Given the description of an element on the screen output the (x, y) to click on. 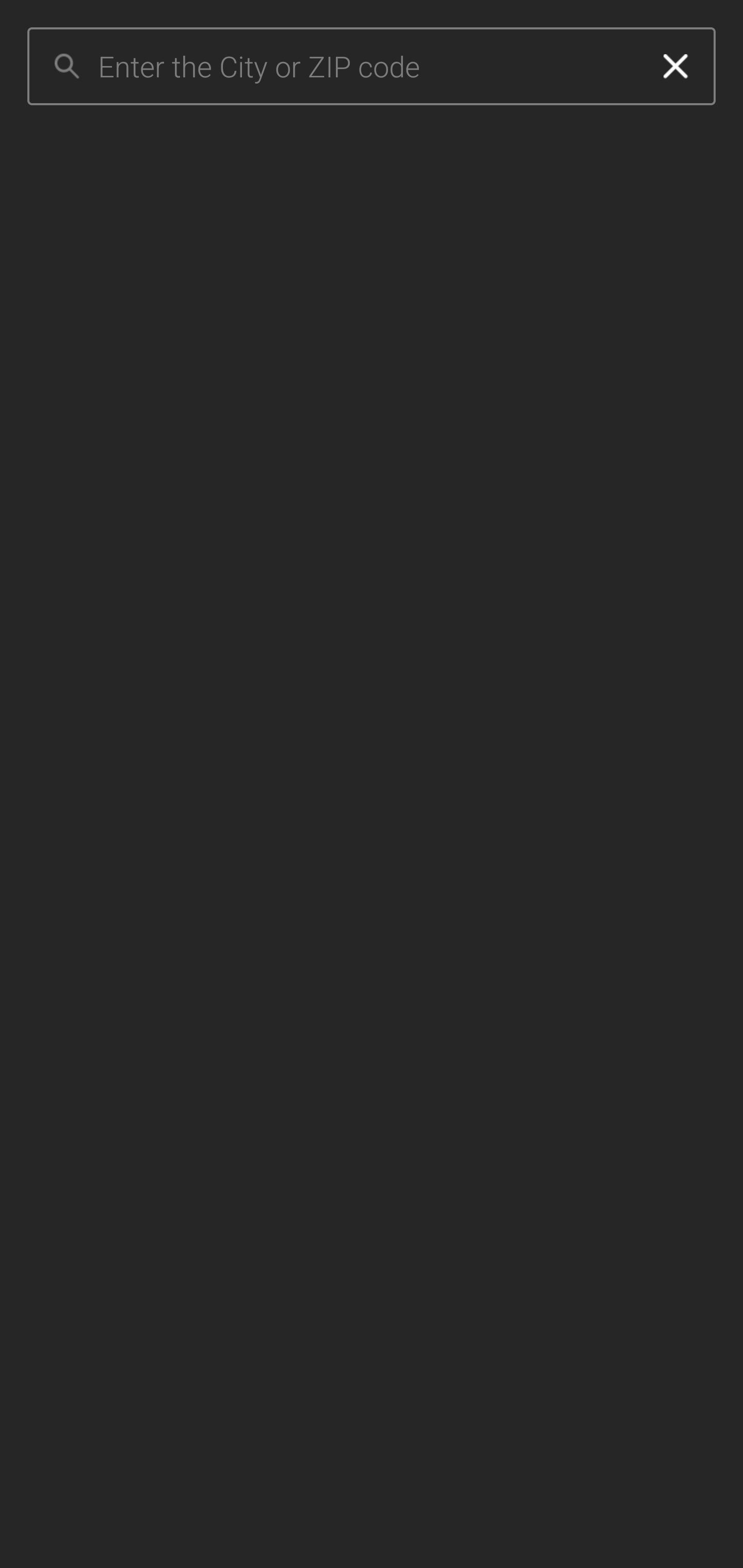
Enter the City or ZIP code (367, 66)
